Given the description of an element on the screen output the (x, y) to click on. 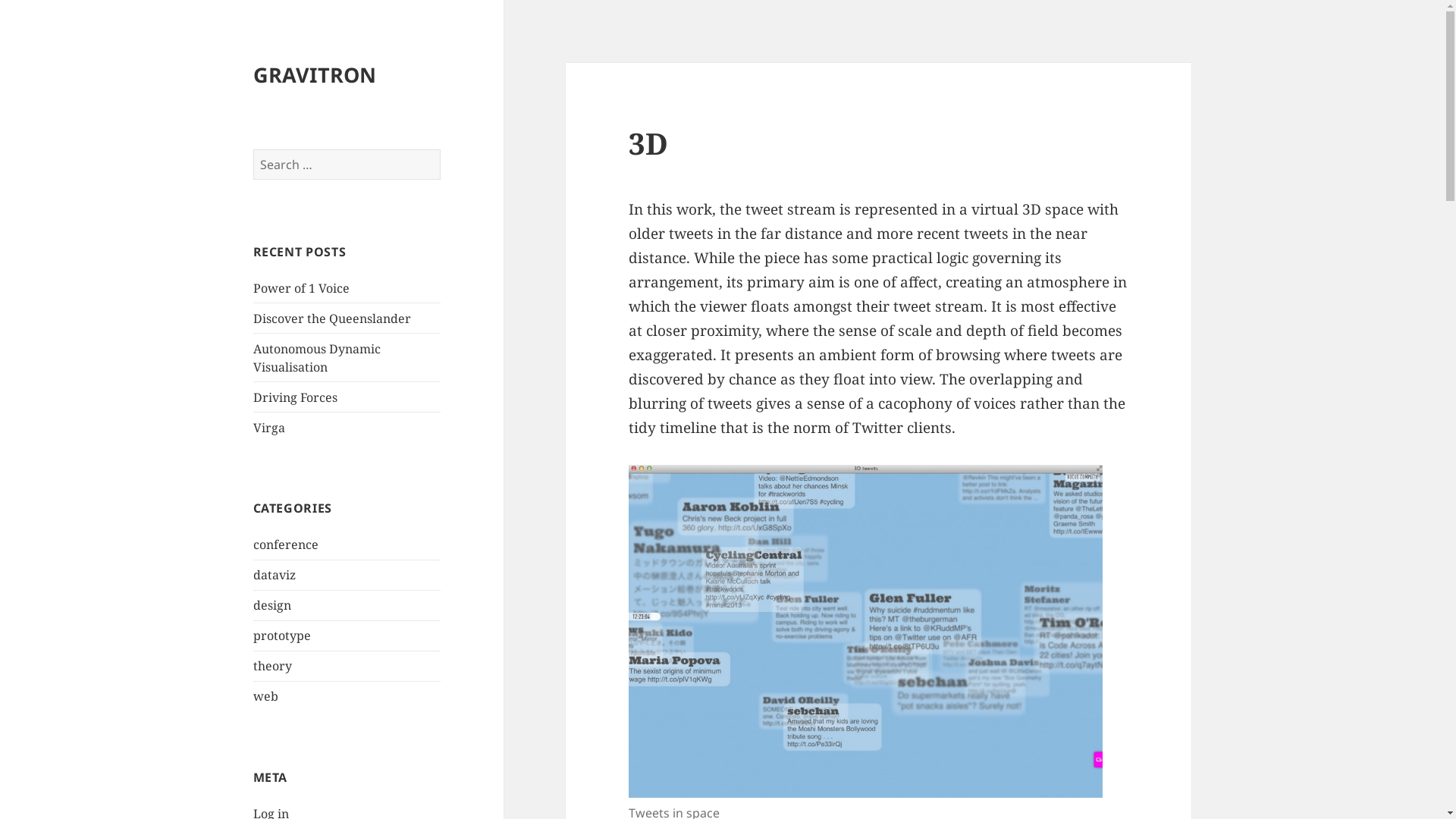
Discover the Queenslander Element type: text (332, 318)
Driving Forces Element type: text (295, 397)
conference Element type: text (285, 544)
design Element type: text (272, 604)
Search Element type: text (440, 149)
Virga Element type: text (269, 427)
theory Element type: text (272, 665)
dataviz Element type: text (274, 574)
prototype Element type: text (281, 635)
web Element type: text (265, 695)
Autonomous Dynamic Visualisation Element type: text (316, 357)
Power of 1 Voice Element type: text (301, 287)
GRAVITRON Element type: text (314, 74)
